Given the description of an element on the screen output the (x, y) to click on. 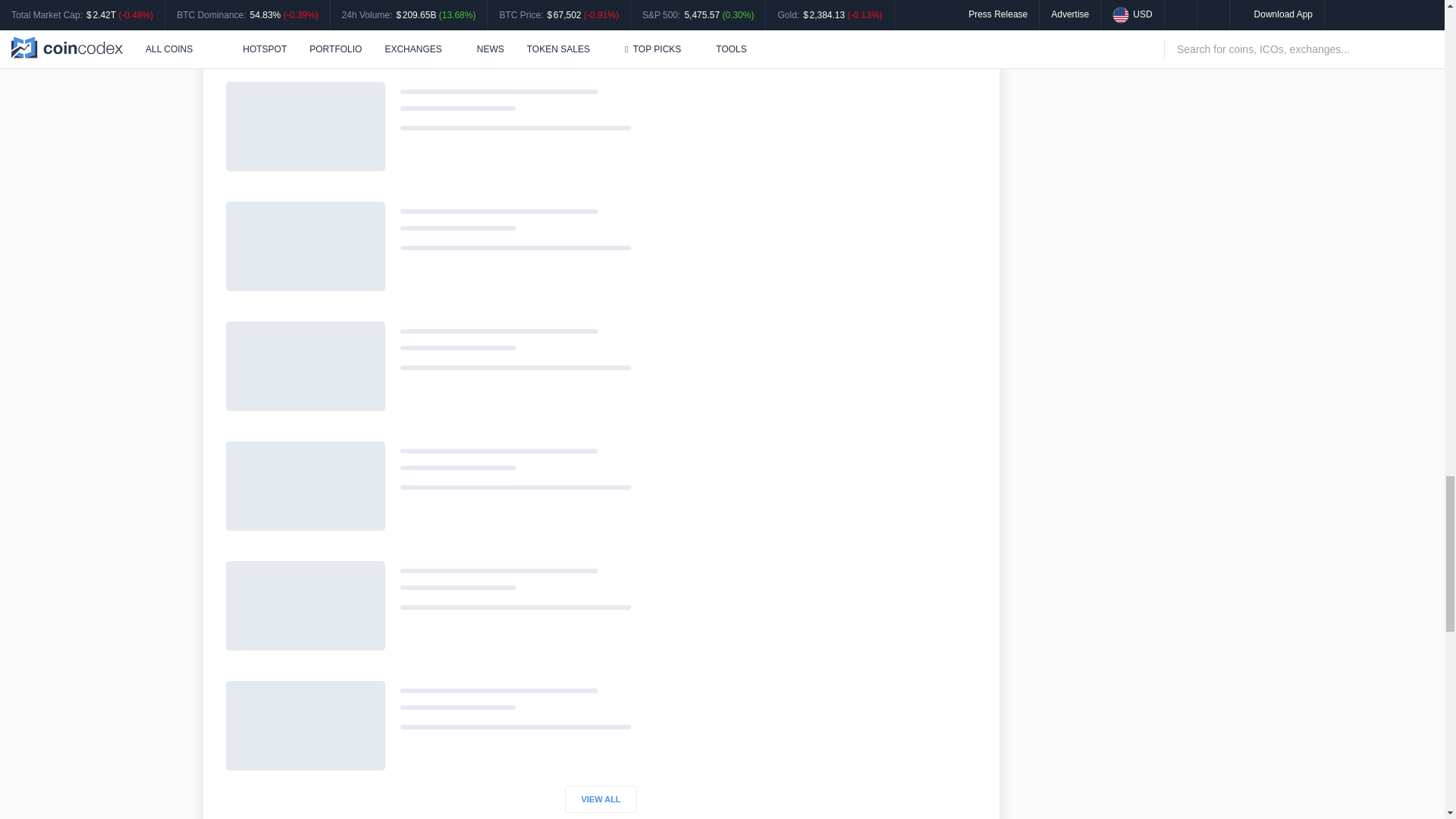
VIEW ALL (600, 799)
